Given the description of an element on the screen output the (x, y) to click on. 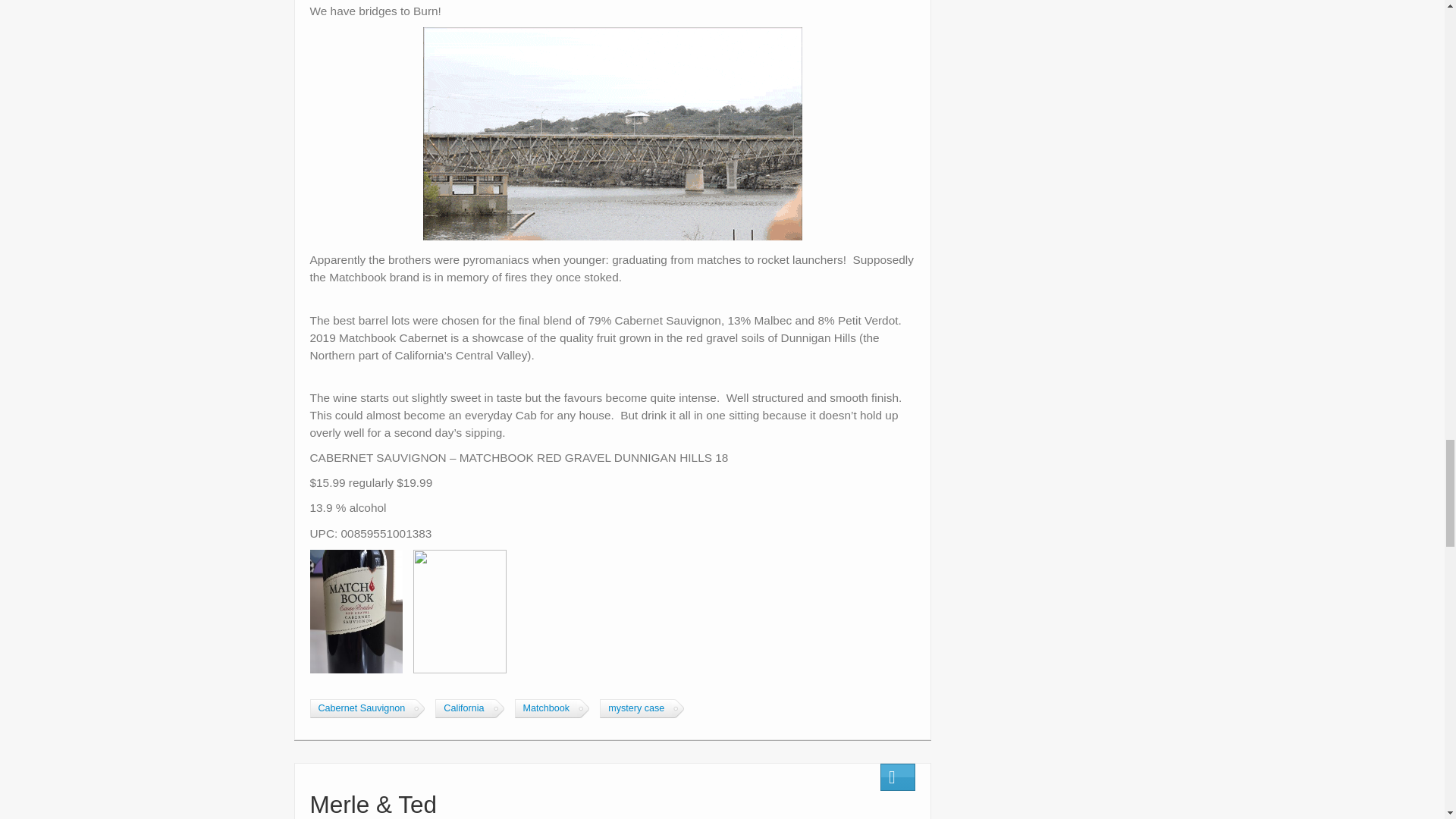
Matchbook (546, 708)
California (463, 708)
Cabernet Sauvignon (360, 708)
mystery case (635, 708)
